Given the description of an element on the screen output the (x, y) to click on. 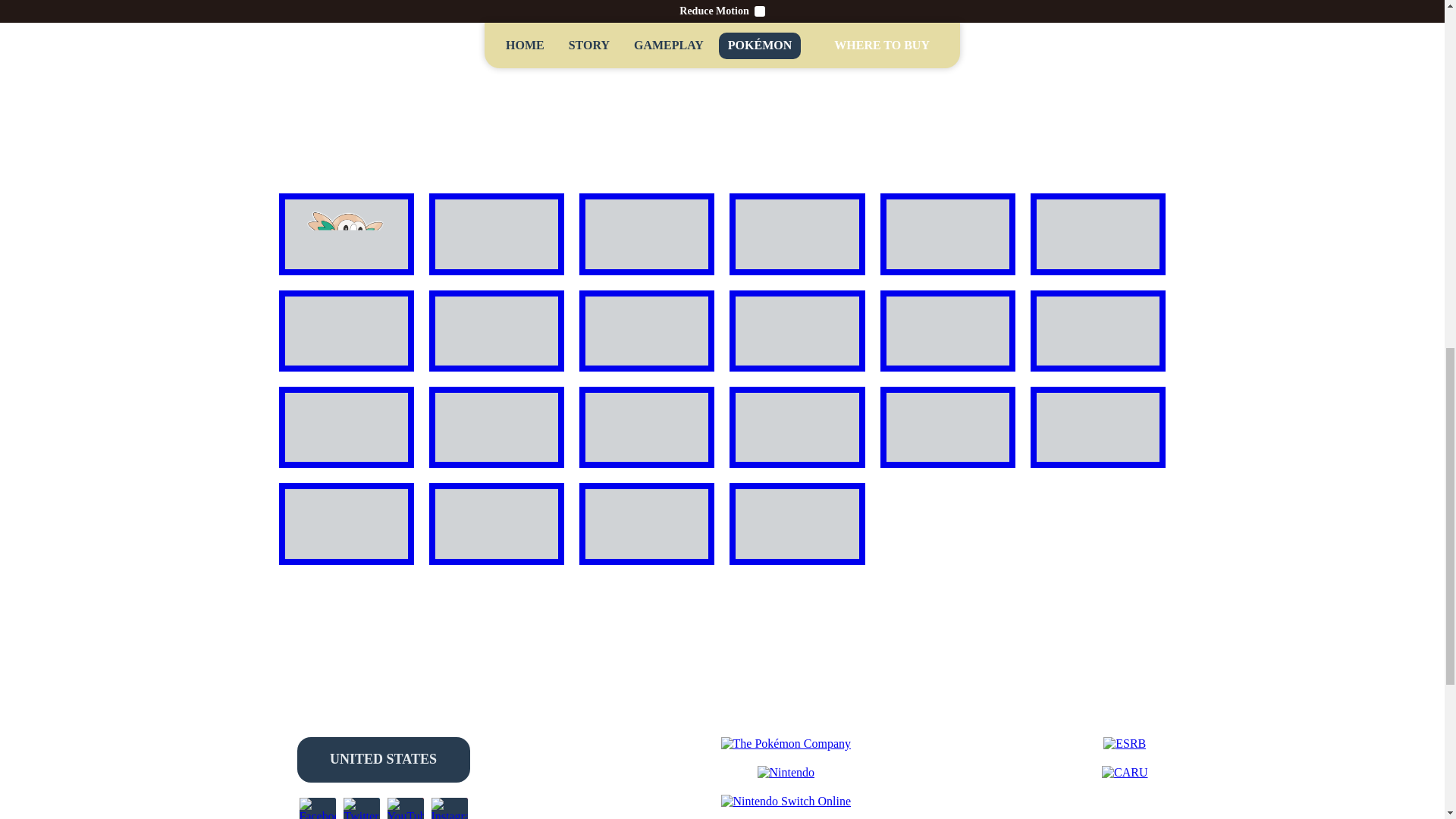
UNITED STATES (383, 759)
